Given the description of an element on the screen output the (x, y) to click on. 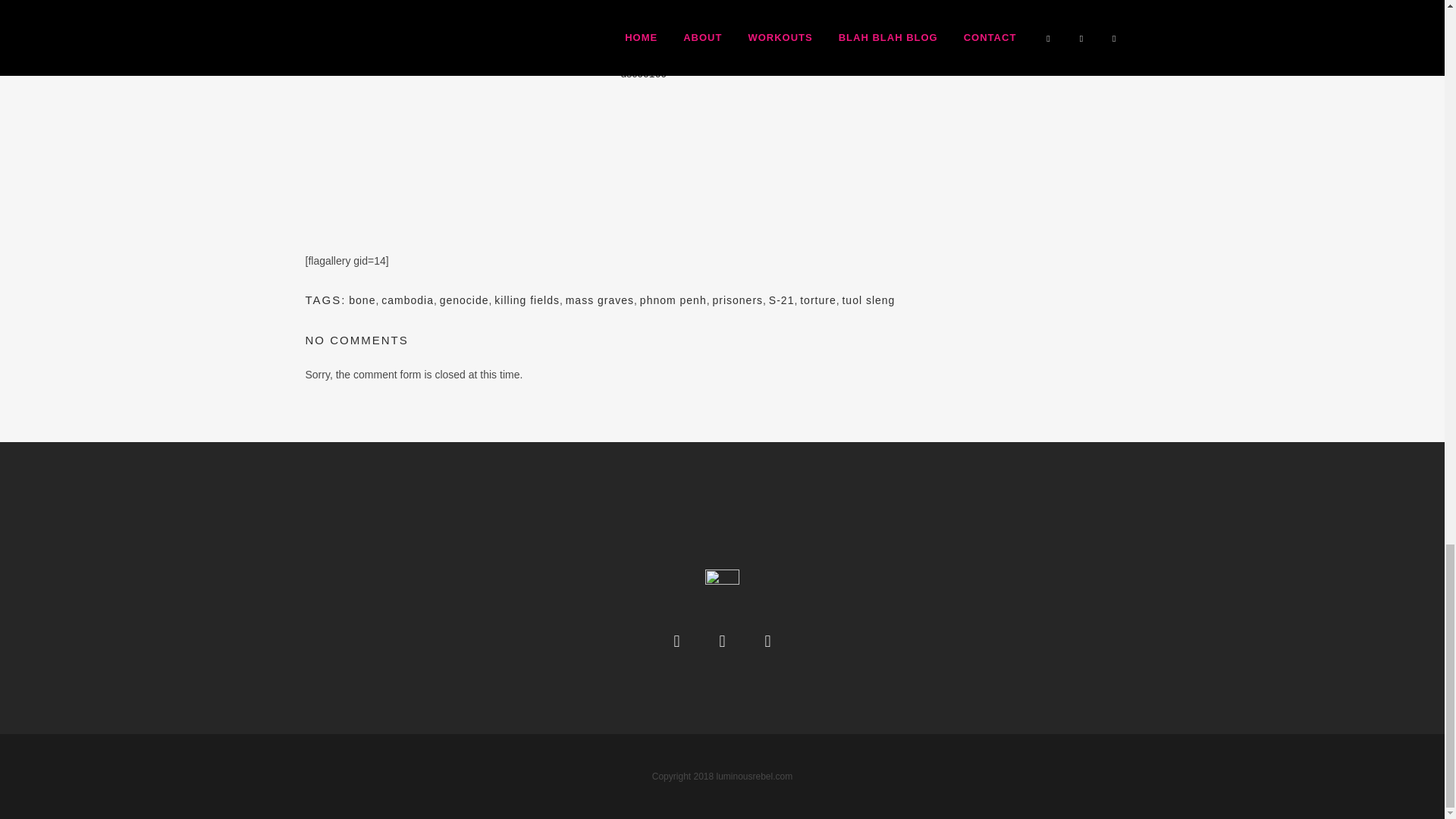
bone (362, 300)
S-21 (781, 300)
genocide (464, 300)
tuol sleng (868, 300)
killing fields (527, 300)
torture (817, 300)
cambodia (407, 300)
phnom penh (673, 300)
prisoners (736, 300)
mass graves (599, 300)
